Given the description of an element on the screen output the (x, y) to click on. 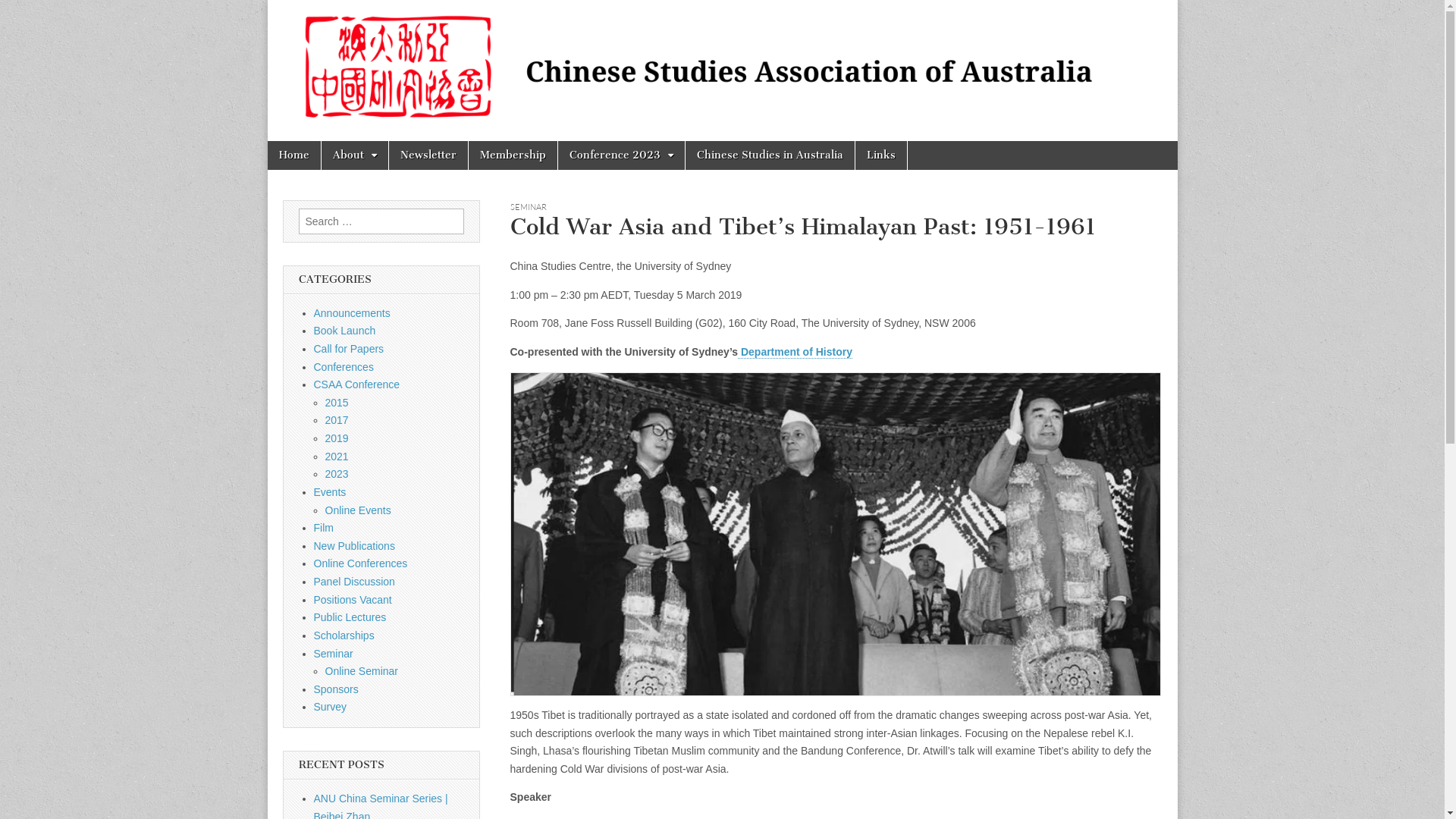
Scholarships Element type: text (343, 635)
2015 Element type: text (336, 402)
Call for Papers Element type: text (348, 348)
Home Element type: text (293, 155)
Conference 2023 Element type: text (621, 155)
Positions Vacant Element type: text (352, 599)
Public Lectures Element type: text (349, 617)
Announcements Element type: text (351, 313)
Department of History Element type: text (794, 351)
Panel Discussion Element type: text (354, 581)
2023 Element type: text (336, 473)
Chinese Studies in Australia Element type: text (769, 155)
2019 Element type: text (336, 438)
CSAA Conference Element type: text (356, 384)
Membership Element type: text (512, 155)
Book Launch Element type: text (344, 330)
Seminar Element type: text (333, 653)
Sponsors Element type: text (335, 689)
Chinese Studies Association of Australia Element type: hover (721, 70)
SEMINAR Element type: text (527, 206)
Online Conferences Element type: text (360, 563)
About Element type: text (354, 155)
Online Events Element type: text (357, 510)
2017 Element type: text (336, 420)
2021 Element type: text (336, 456)
Conferences Element type: text (343, 366)
Online Seminar Element type: text (361, 671)
Events Element type: text (329, 492)
New Publications Element type: text (354, 545)
Search Element type: text (23, 12)
Newsletter Element type: text (427, 155)
Survey Element type: text (330, 706)
Skip to content Element type: text (266, 140)
Chinese Studies Association of Australia Element type: text (386, 113)
Links Element type: text (880, 155)
Film Element type: text (323, 527)
